Given the description of an element on the screen output the (x, y) to click on. 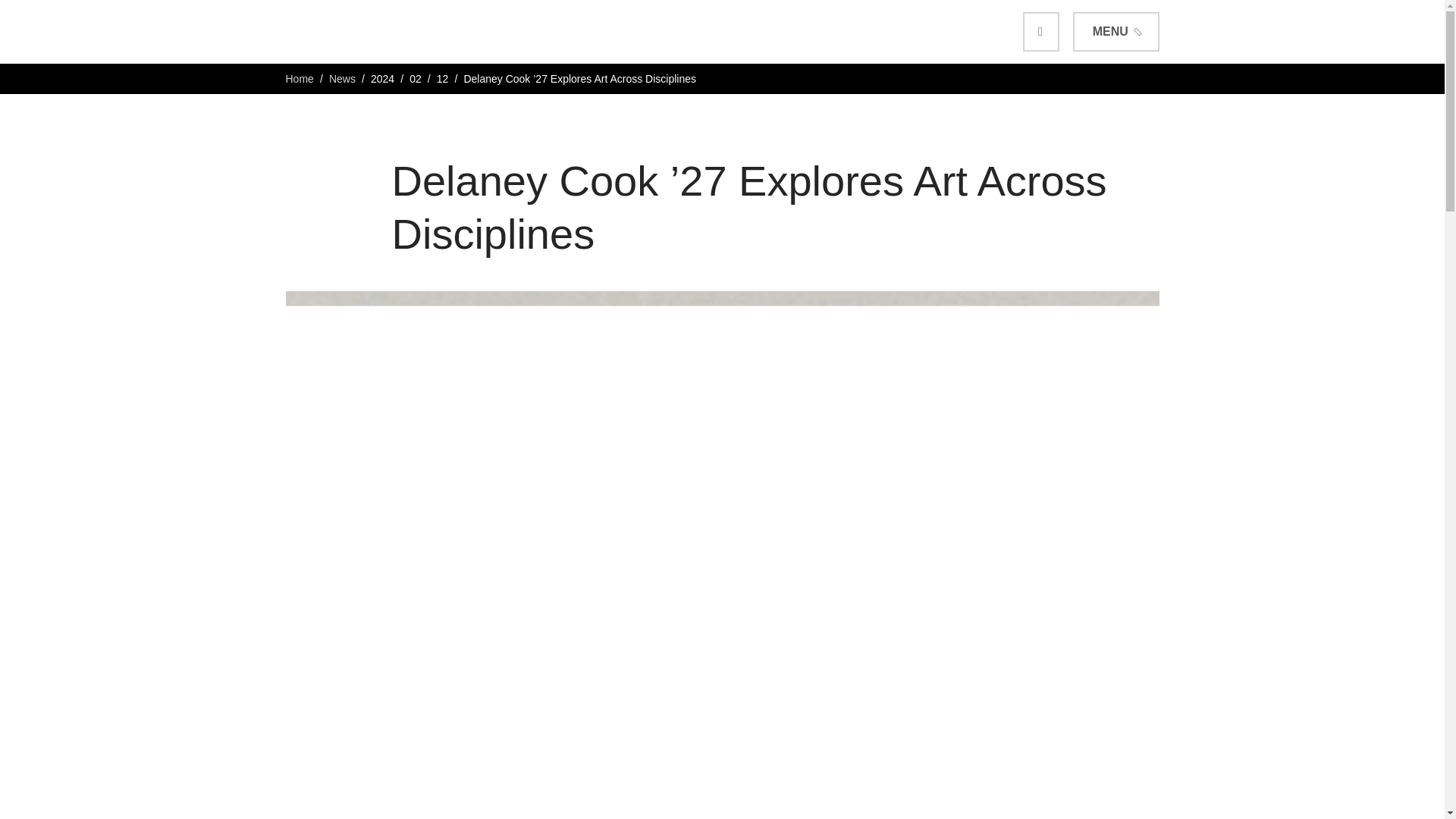
News (342, 78)
MENU (1115, 31)
Home (299, 78)
